Given the description of an element on the screen output the (x, y) to click on. 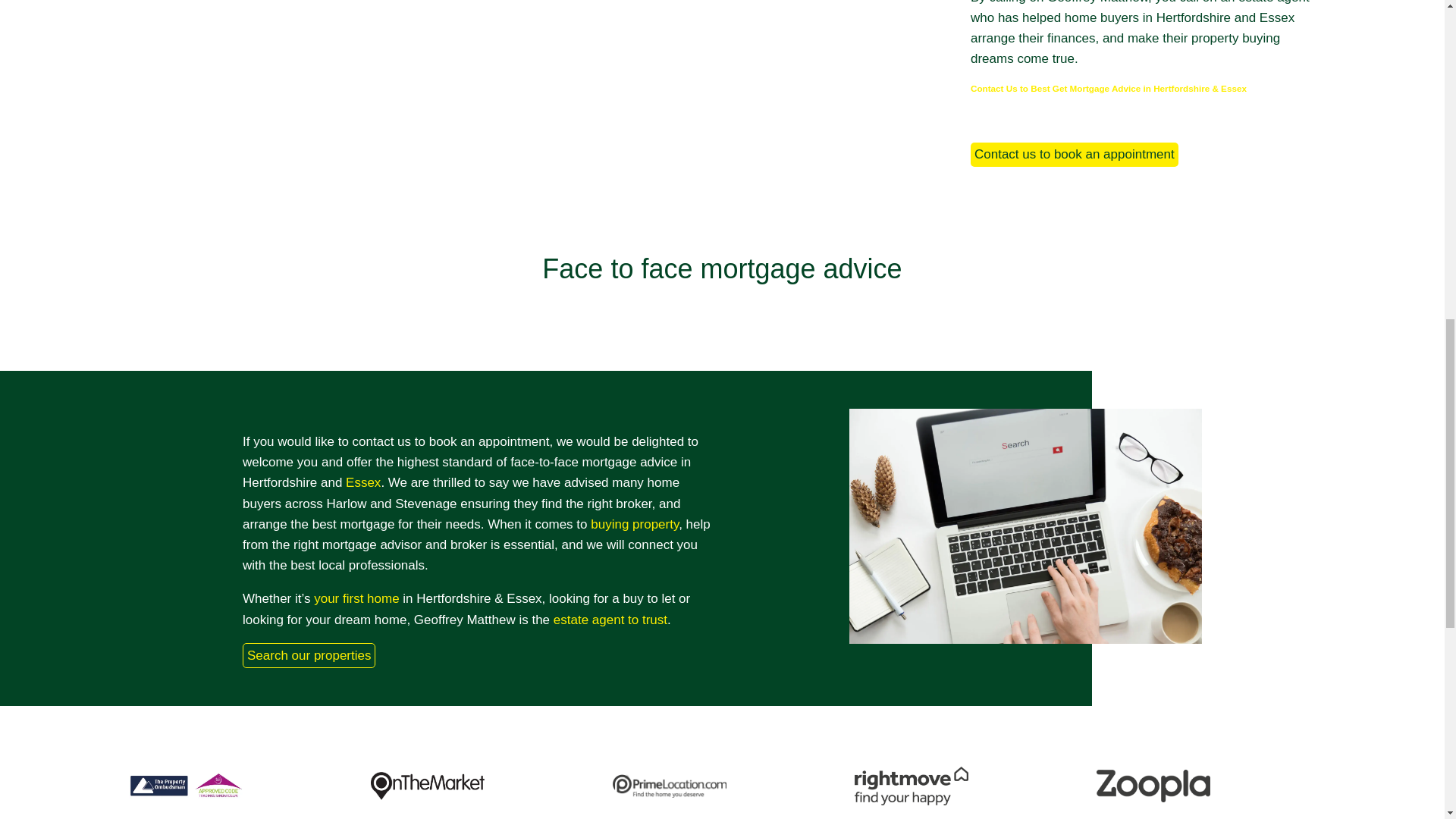
your first home (356, 598)
estate agent to trust (609, 619)
Essex (363, 482)
buying property (634, 523)
